Given the description of an element on the screen output the (x, y) to click on. 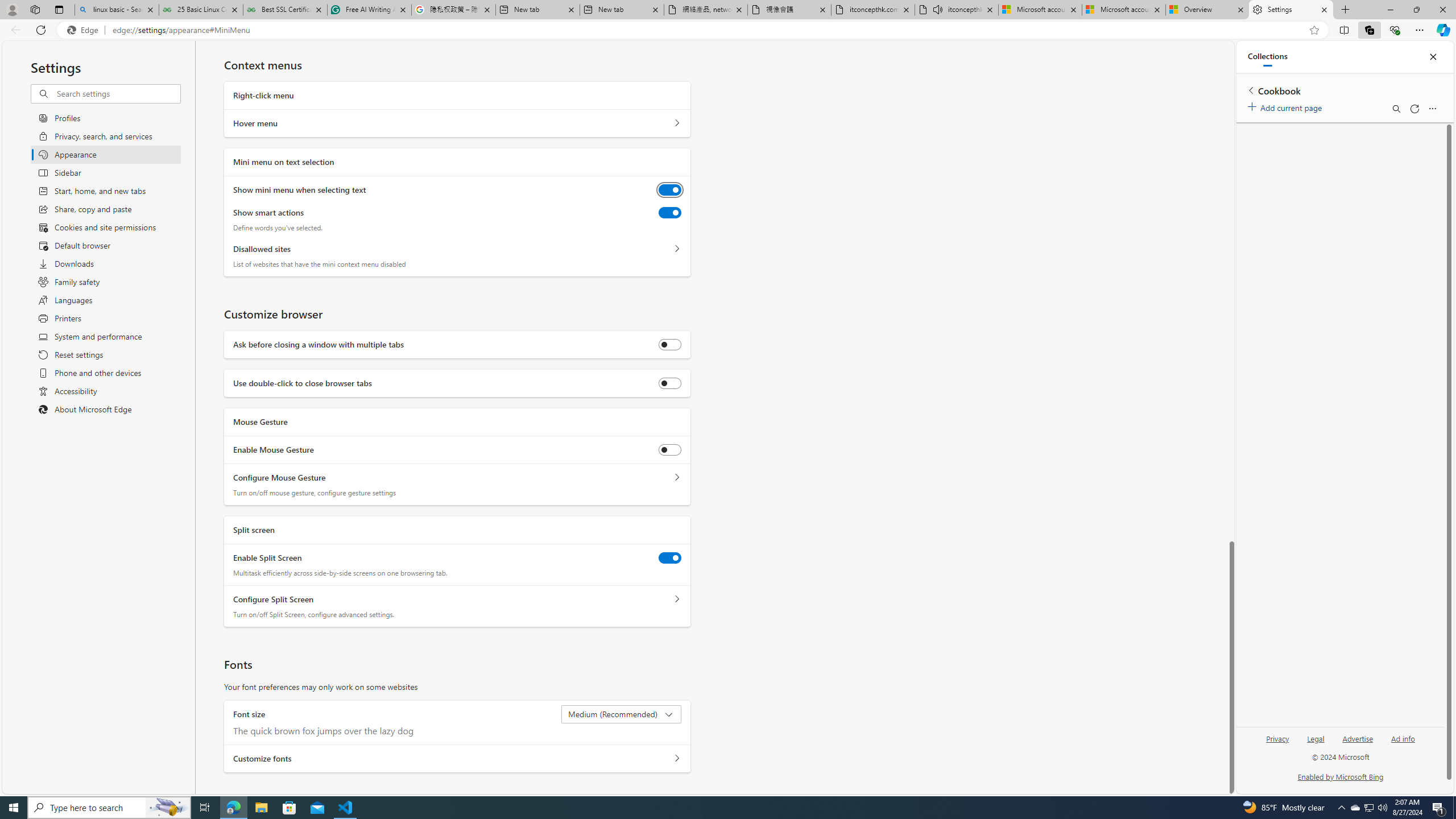
Best SSL Certificates Provider in India - GeeksforGeeks (284, 9)
Configure Split Screen (676, 598)
Show smart actions (669, 212)
Enable Mouse Gesture (669, 449)
Ask before closing a window with multiple tabs (669, 344)
Customize fonts (676, 758)
